Given the description of an element on the screen output the (x, y) to click on. 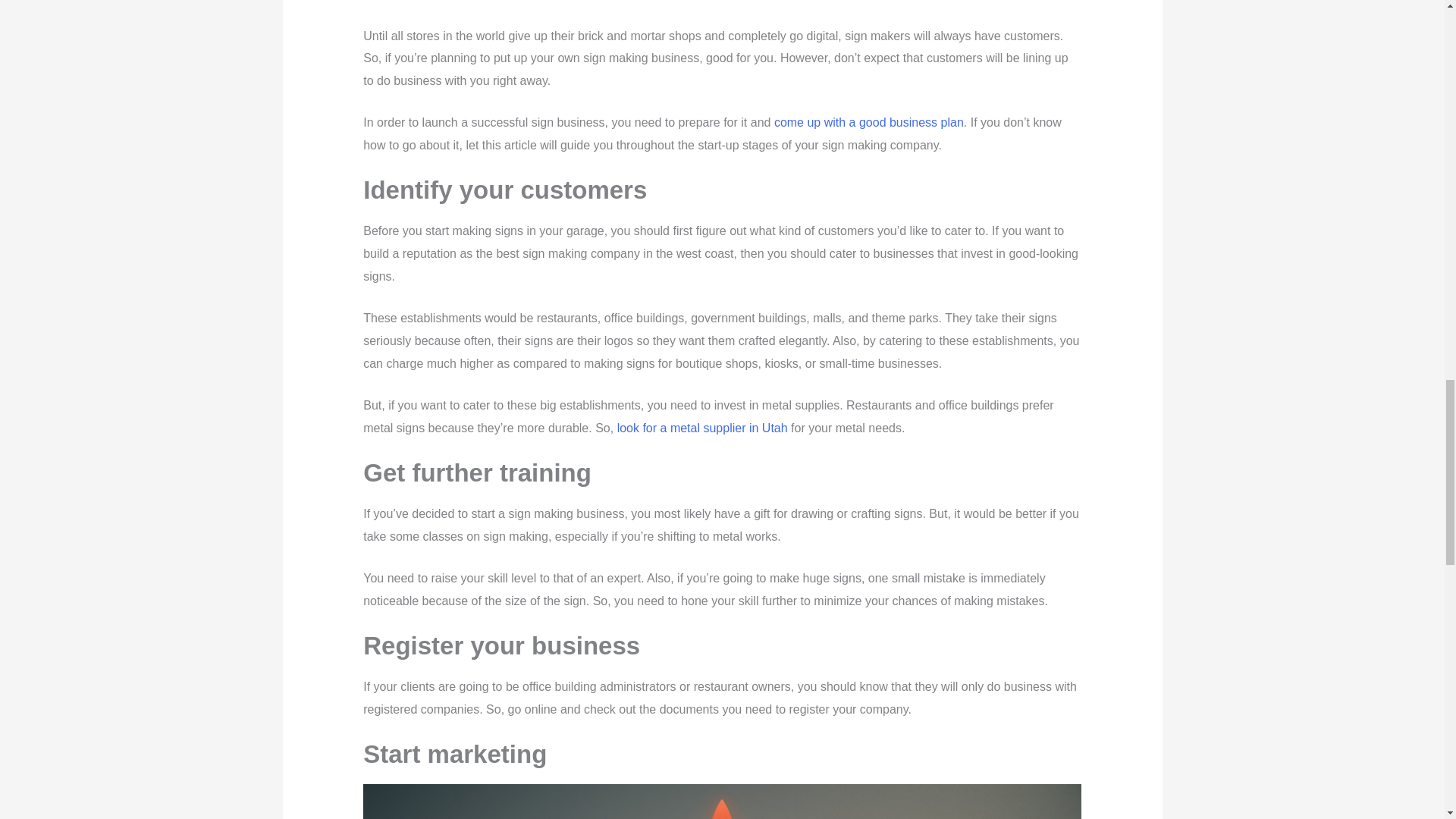
look for a metal supplier in Utah (702, 427)
Entrepreneur (868, 122)
come up with a good business plan (868, 122)
Barber Metals and Fabrication (702, 427)
